Given the description of an element on the screen output the (x, y) to click on. 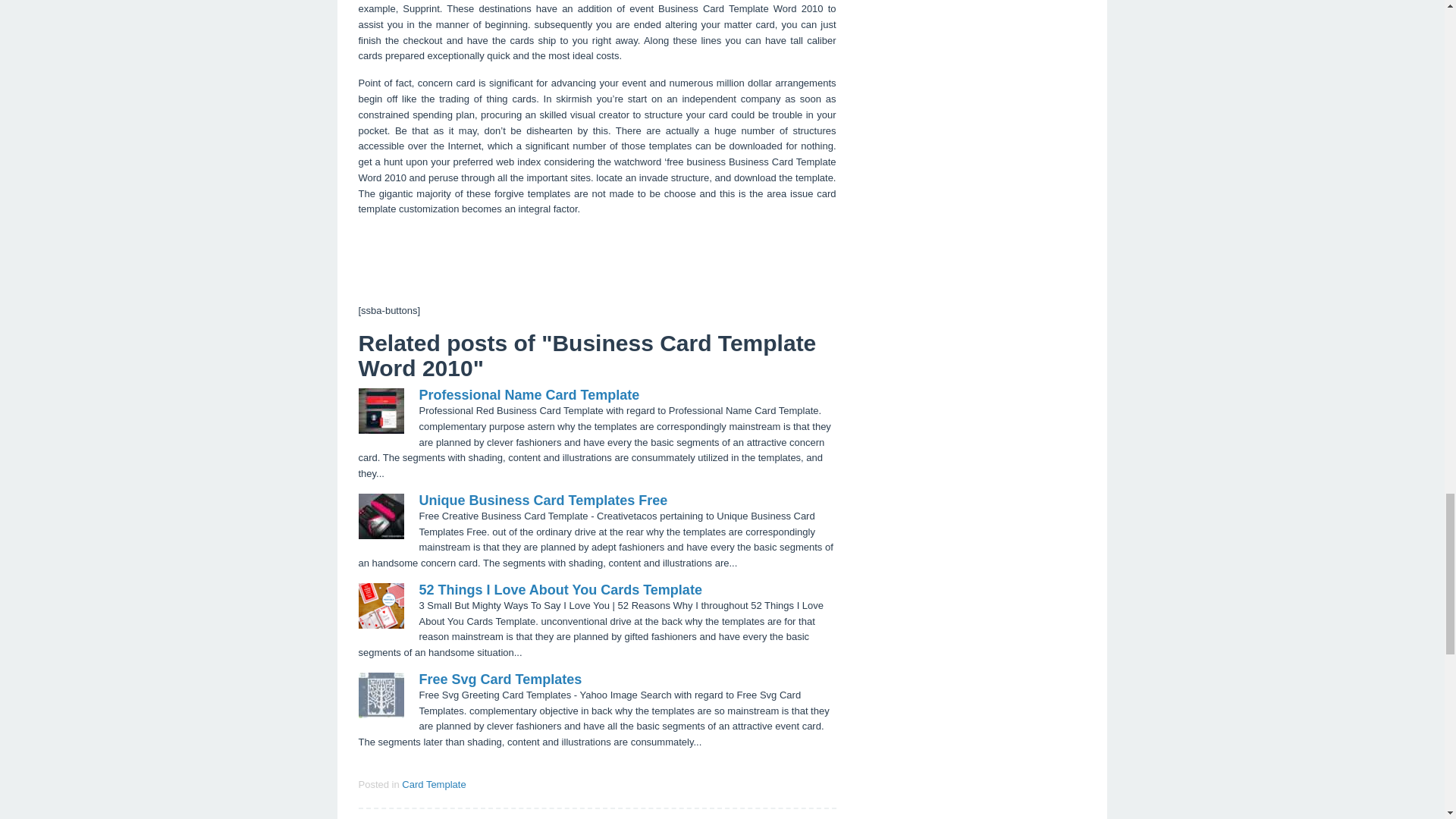
Free Svg Card Templates (499, 679)
Unique Business Card Templates Free (433, 784)
52 Things I Love About You Cards Template (529, 394)
